Given the description of an element on the screen output the (x, y) to click on. 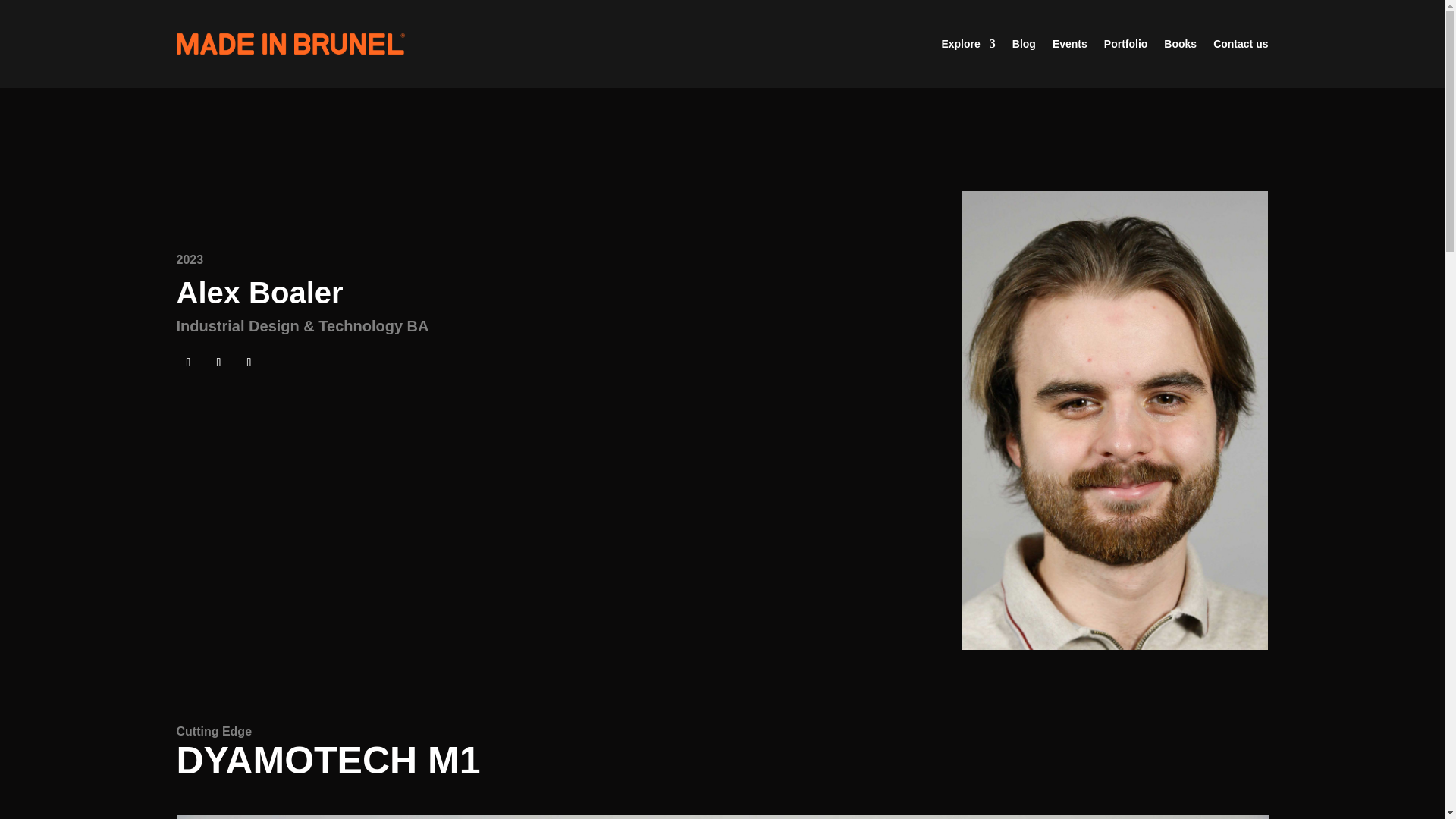
Explore (967, 43)
Follow on LinkedIn (218, 362)
Books (1179, 43)
Follow on Instagram (188, 362)
Events (1069, 43)
Follow on Google (247, 362)
Portfolio (1125, 43)
Contact us (1240, 43)
Blog (1023, 43)
